Given the description of an element on the screen output the (x, y) to click on. 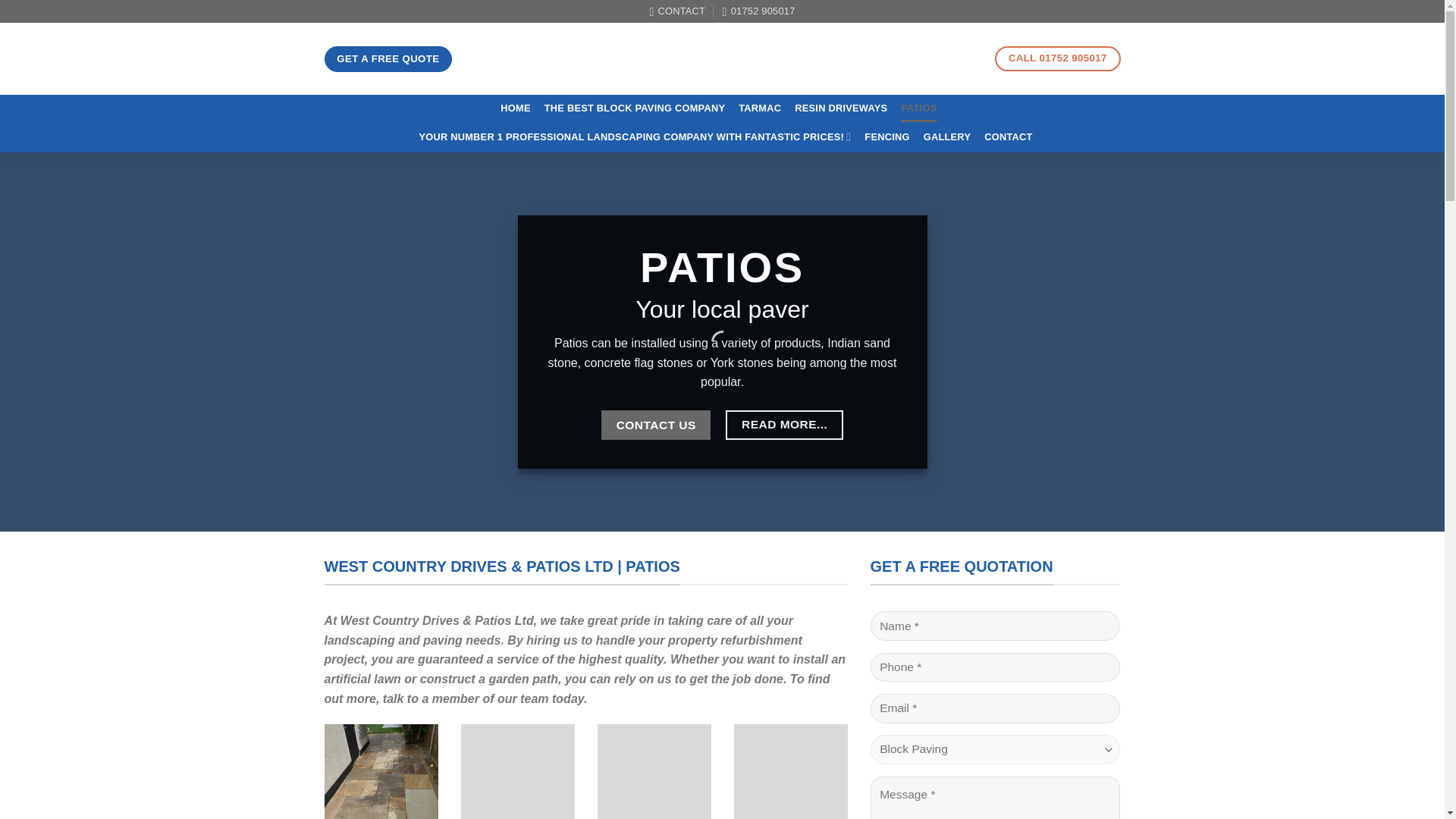
GALLERY (947, 136)
TARMAC (759, 108)
CONTACT US (655, 424)
FENCING (886, 136)
CALL 01752 905017 (1056, 58)
CONTACT (1008, 136)
PATIOS (918, 108)
CONTACT (676, 11)
RESIN DRIVEWAYS (840, 108)
HOME (514, 108)
GET A FREE QUOTE (388, 58)
01752 905017 (758, 11)
READ MORE... (784, 424)
